Given the description of an element on the screen output the (x, y) to click on. 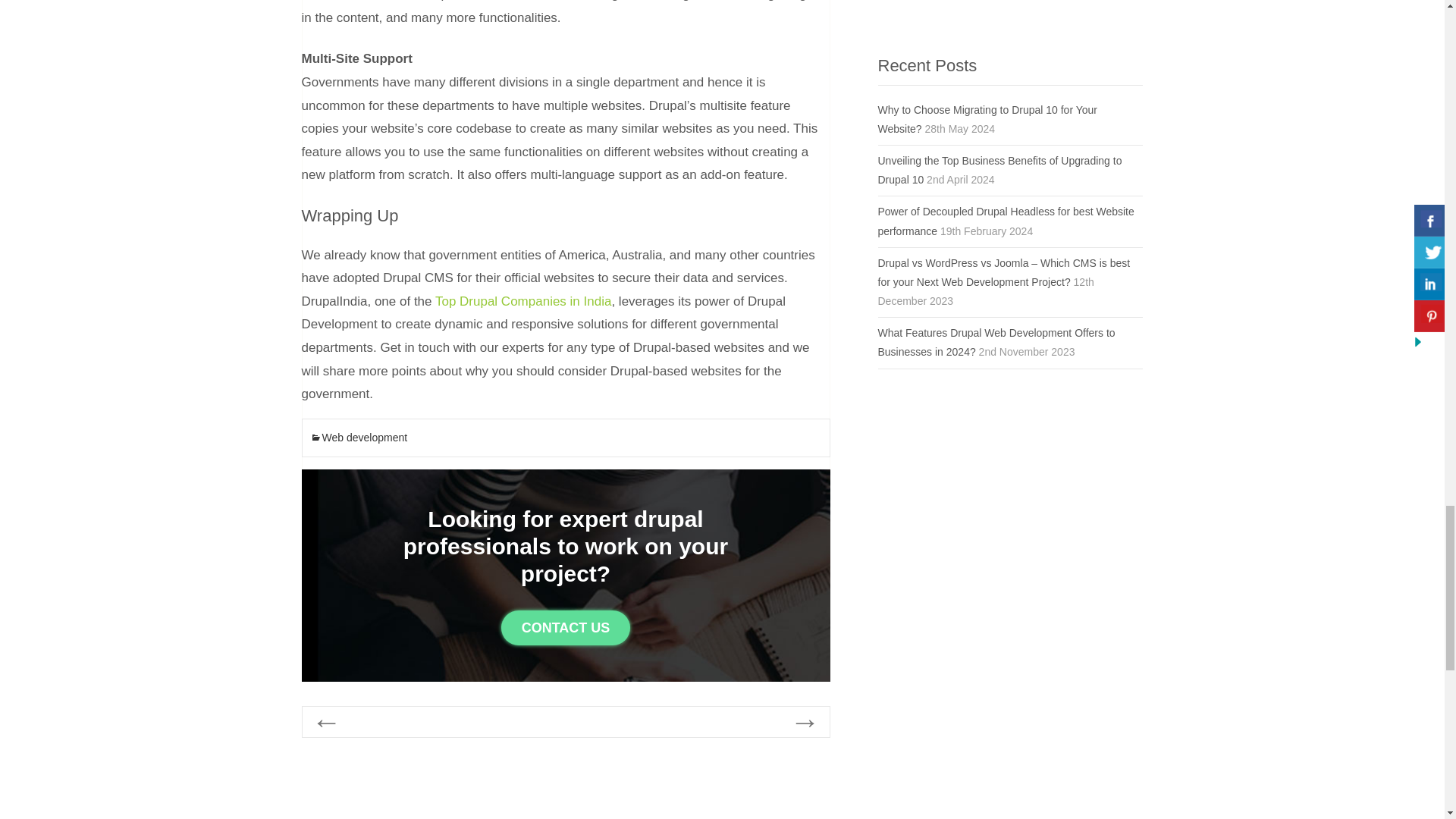
Web development (357, 437)
CONTACT US (565, 627)
Top Drupal Companies in India (523, 301)
